Given the description of an element on the screen output the (x, y) to click on. 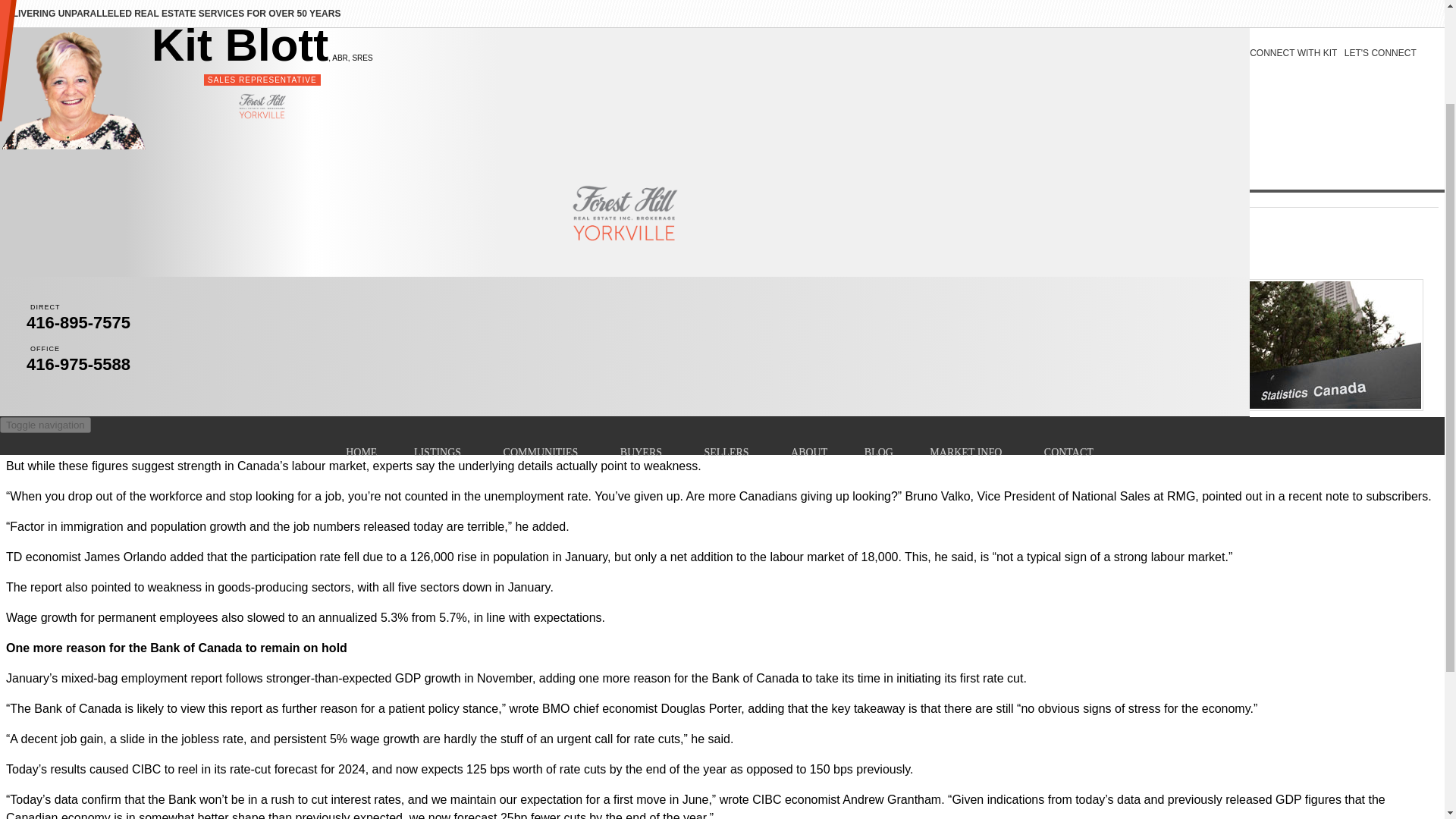
ABOUT (809, 319)
Toggle navigation (45, 291)
Home (26, 98)
BUYERS (644, 318)
MARKET INFO (967, 318)
CONTACT (1071, 318)
COMMUNITIES (542, 318)
HOME (361, 319)
SELLERS (728, 318)
Home Page (26, 98)
